Given the description of an element on the screen output the (x, y) to click on. 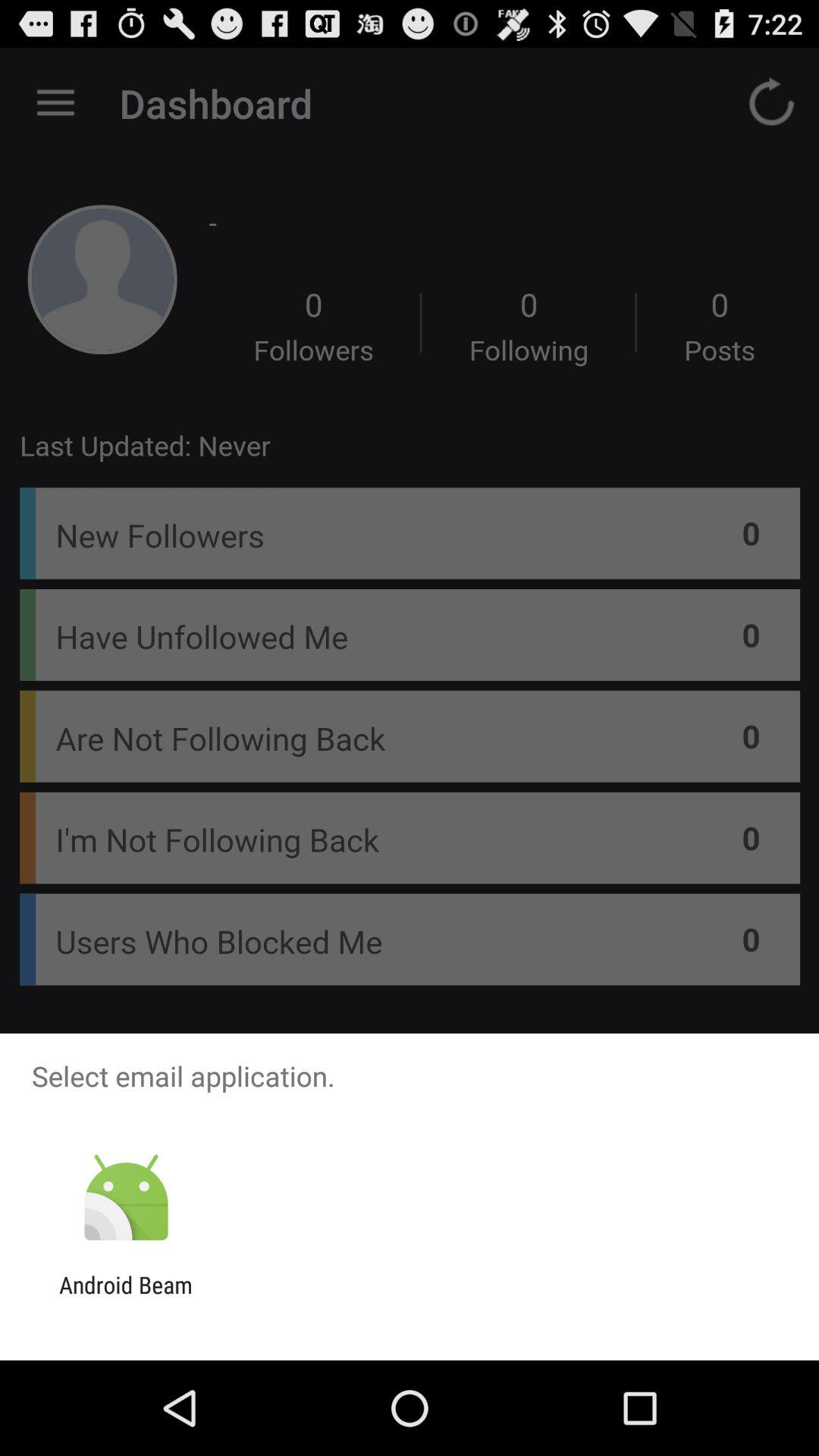
launch the android beam app (125, 1298)
